Given the description of an element on the screen output the (x, y) to click on. 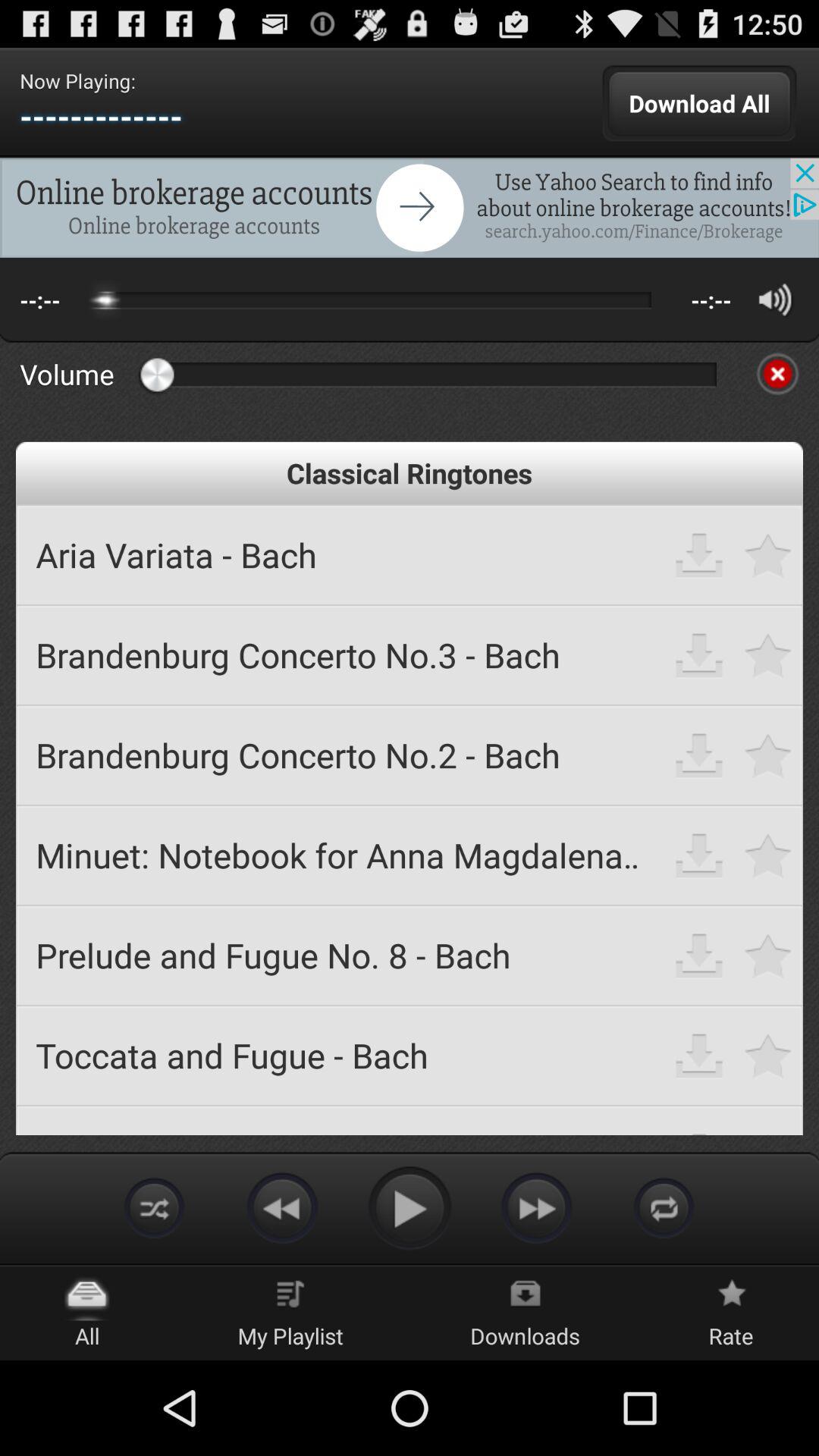
download brandenburg concerto (699, 754)
